Given the description of an element on the screen output the (x, y) to click on. 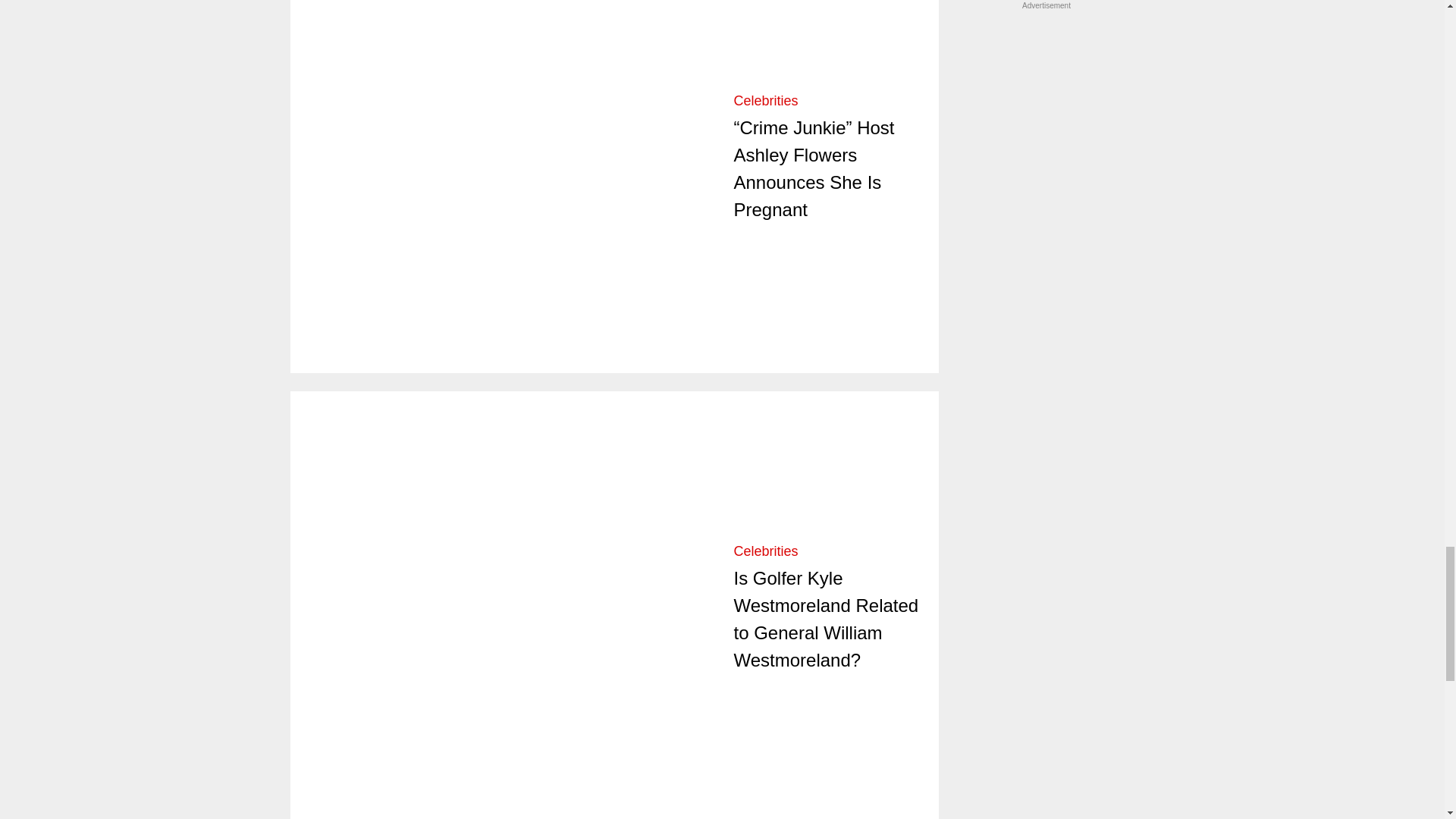
Category Name (765, 100)
Category Name (765, 550)
